Given the description of an element on the screen output the (x, y) to click on. 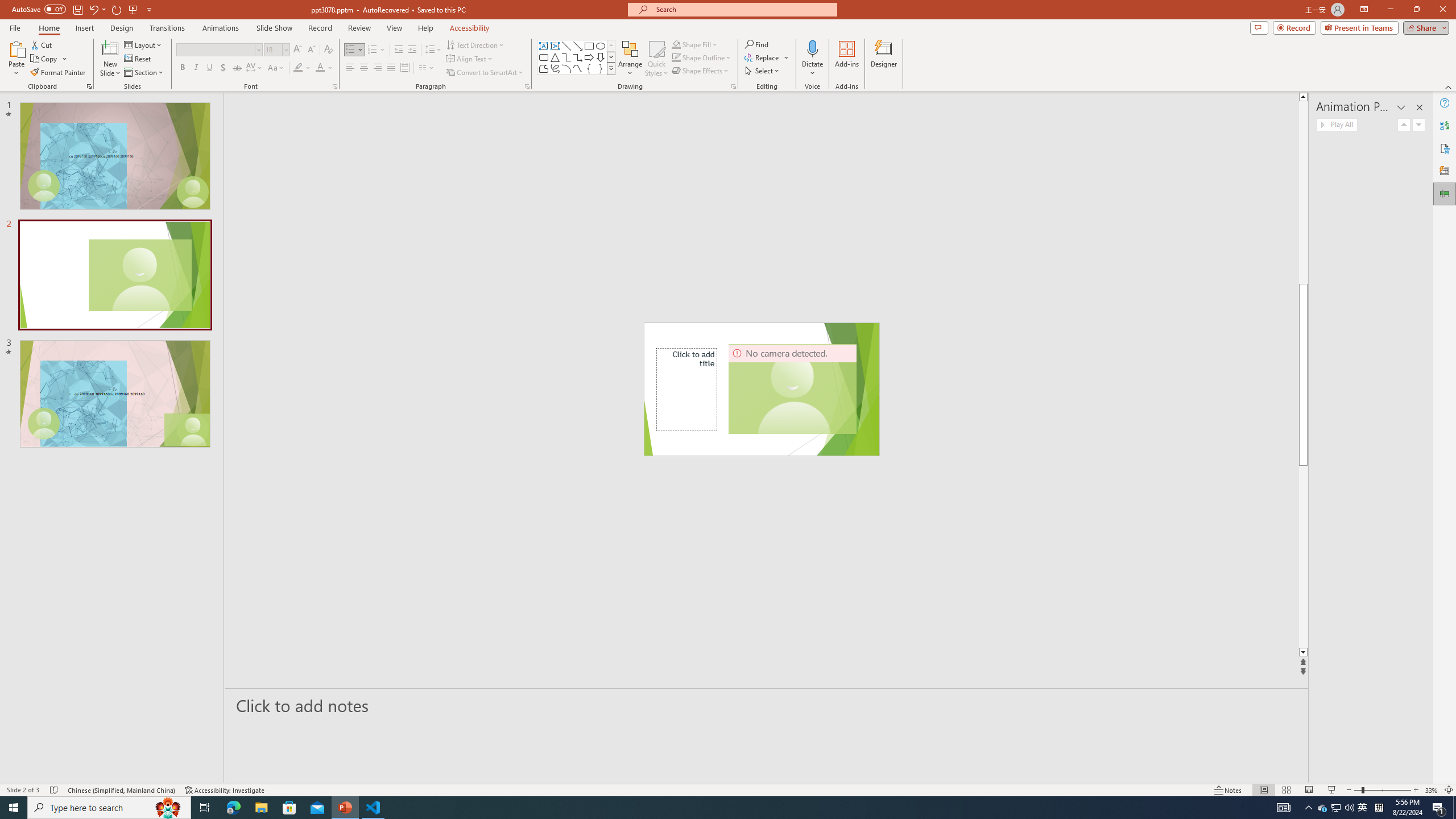
Camera 3, No camera detected. (792, 388)
